Given the description of an element on the screen output the (x, y) to click on. 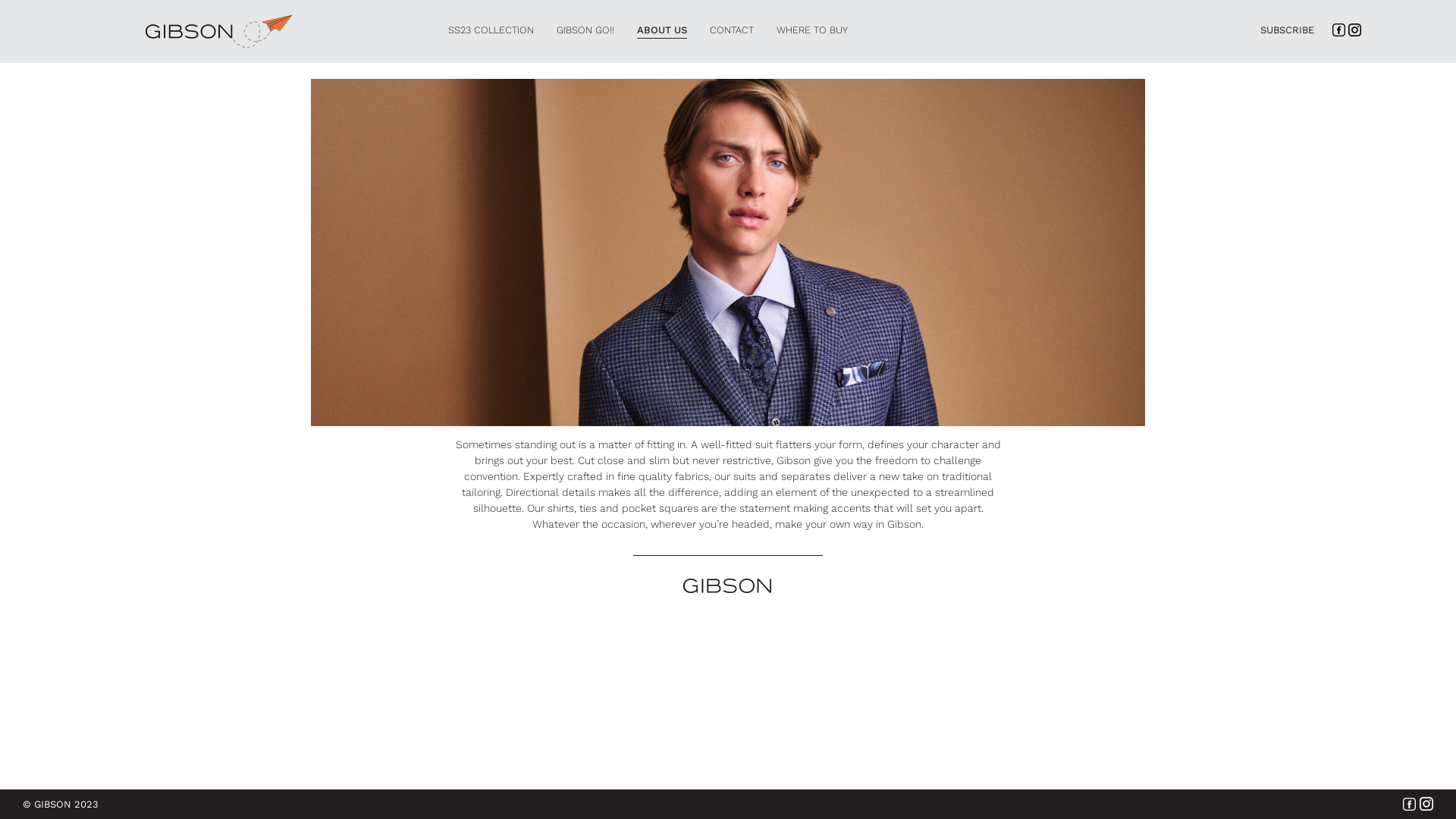
WHERE TO BUY Element type: text (811, 29)
SS23 COLLECTION Element type: text (490, 29)
CONTACT Element type: text (731, 29)
ABOUT US Element type: text (662, 30)
GB-AW23_03 Element type: hover (727, 252)
GIBSON GO!! Element type: text (585, 29)
